Given the description of an element on the screen output the (x, y) to click on. 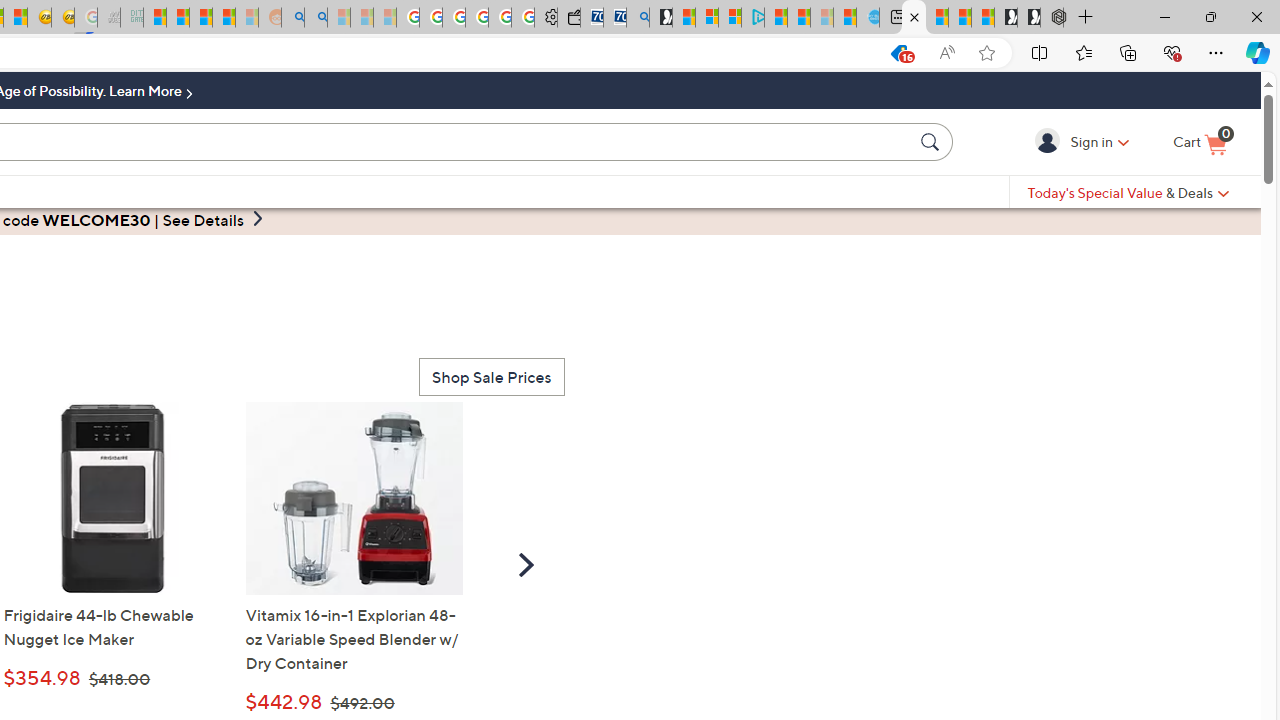
Today's Special Value & Deals (1128, 192)
Today's Special Value & Deals (1128, 192)
